Given the description of an element on the screen output the (x, y) to click on. 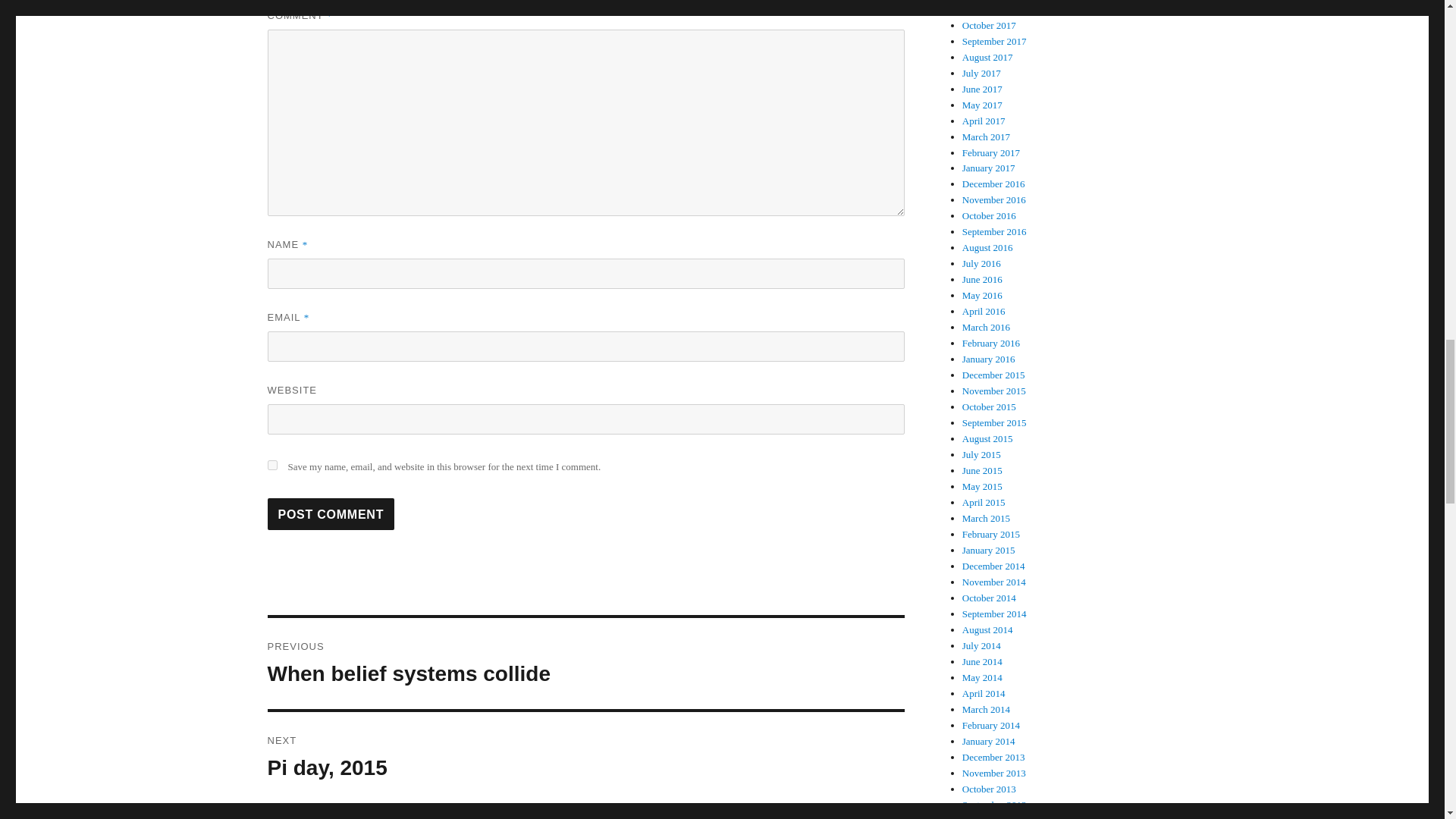
Post Comment (330, 513)
yes (271, 465)
Post Comment (585, 663)
